Given the description of an element on the screen output the (x, y) to click on. 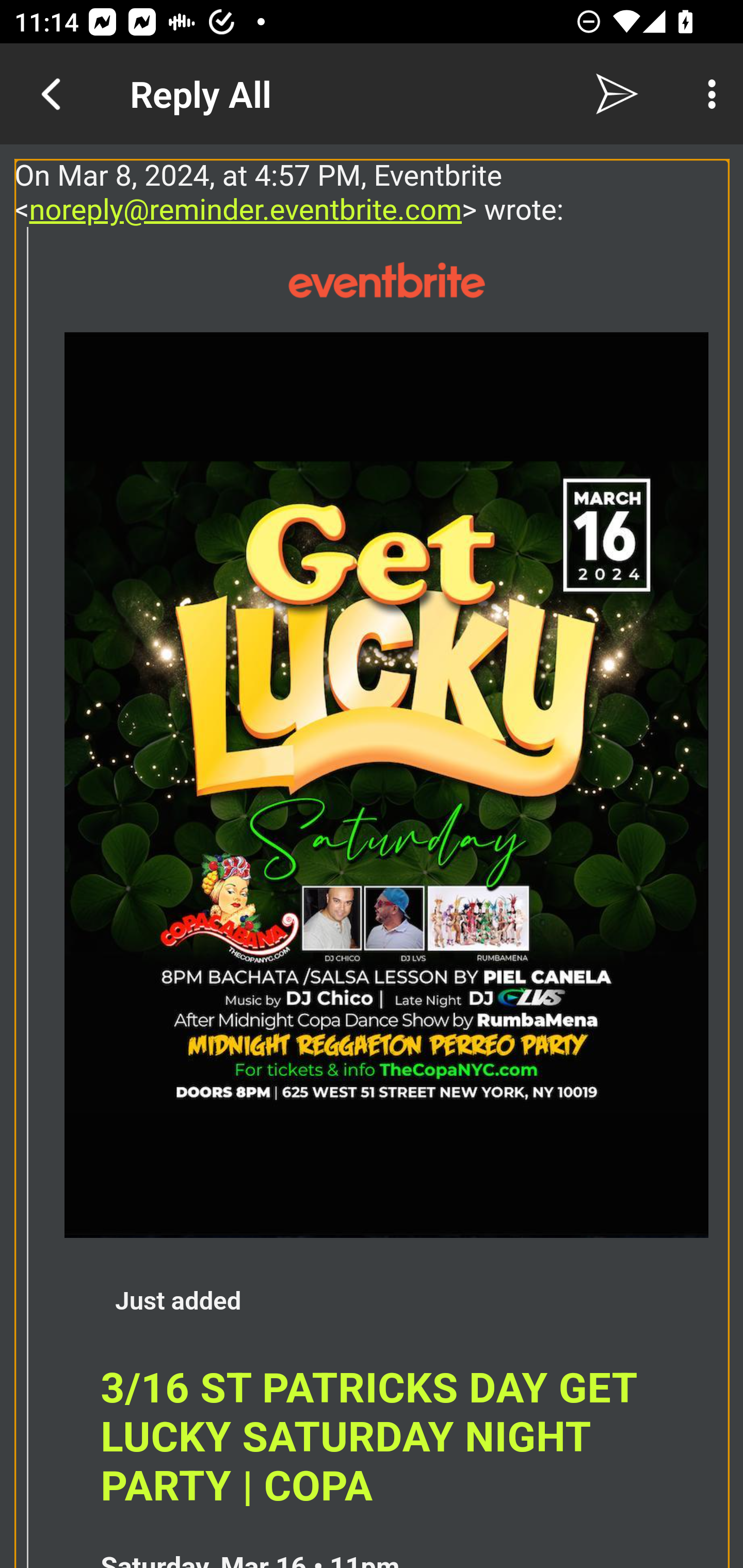
Navigate up (50, 93)
Send (616, 93)
More Options (706, 93)
noreply@reminder.eventbrite.com (245, 209)
Eventbrite (385, 280)
